Given the description of an element on the screen output the (x, y) to click on. 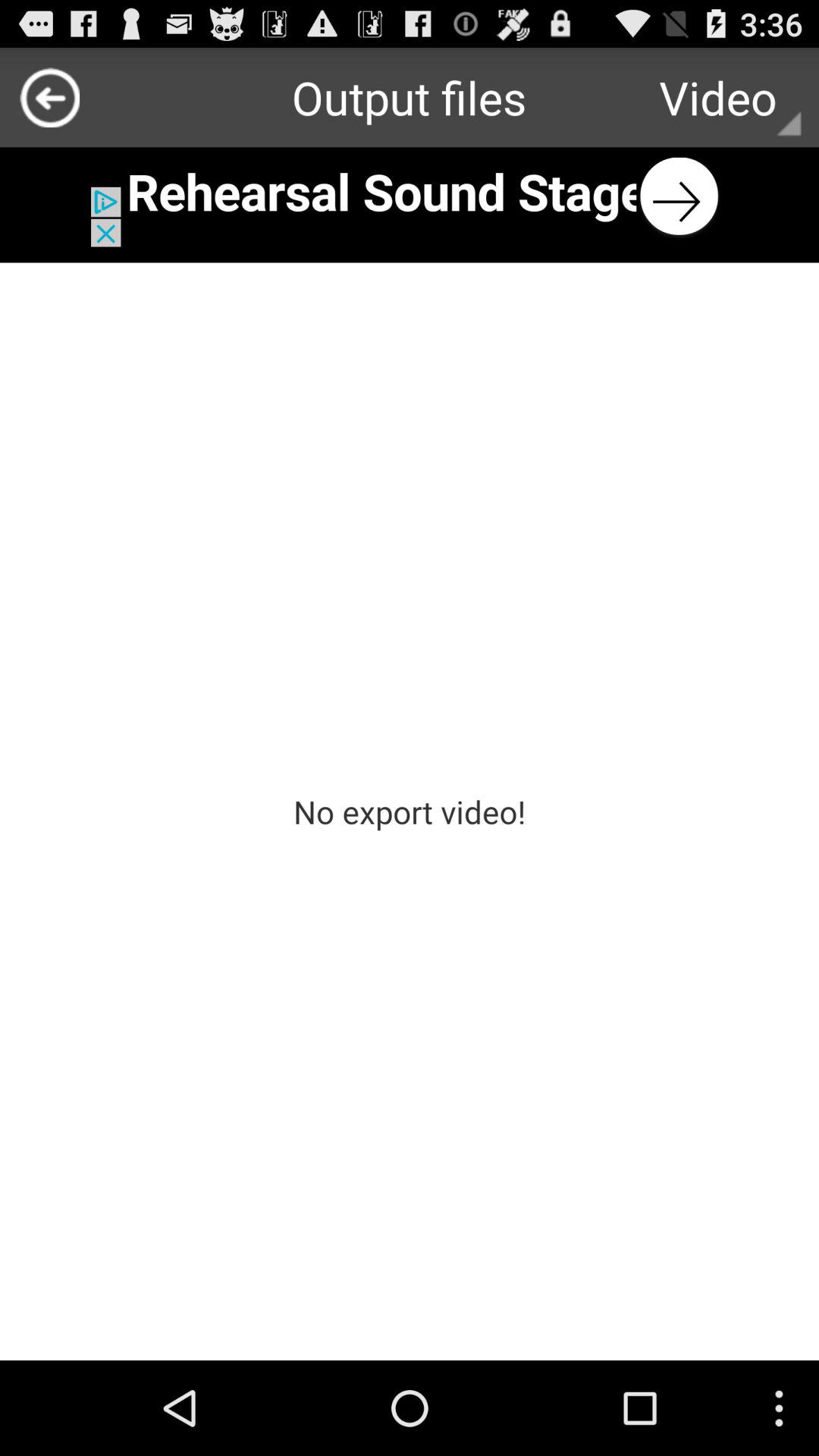
title for the page (409, 196)
